Given the description of an element on the screen output the (x, y) to click on. 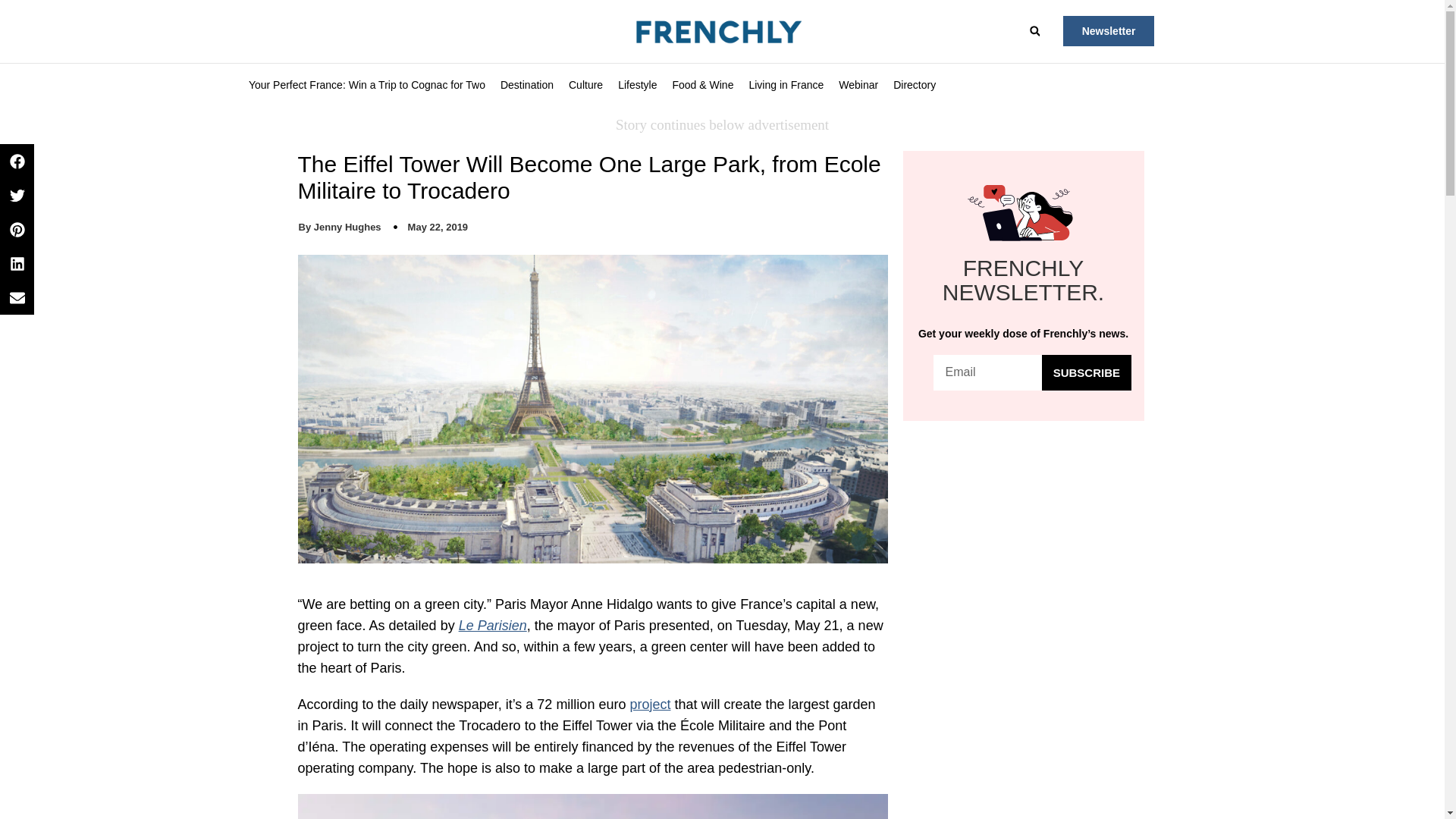
Webinar (858, 85)
Destination (526, 85)
Culture (585, 85)
Your Perfect France: Win a Trip to Cognac for Two (367, 85)
Directory (914, 85)
Lifestyle (636, 85)
Living in France (786, 85)
Newsletter (1108, 30)
